Given the description of an element on the screen output the (x, y) to click on. 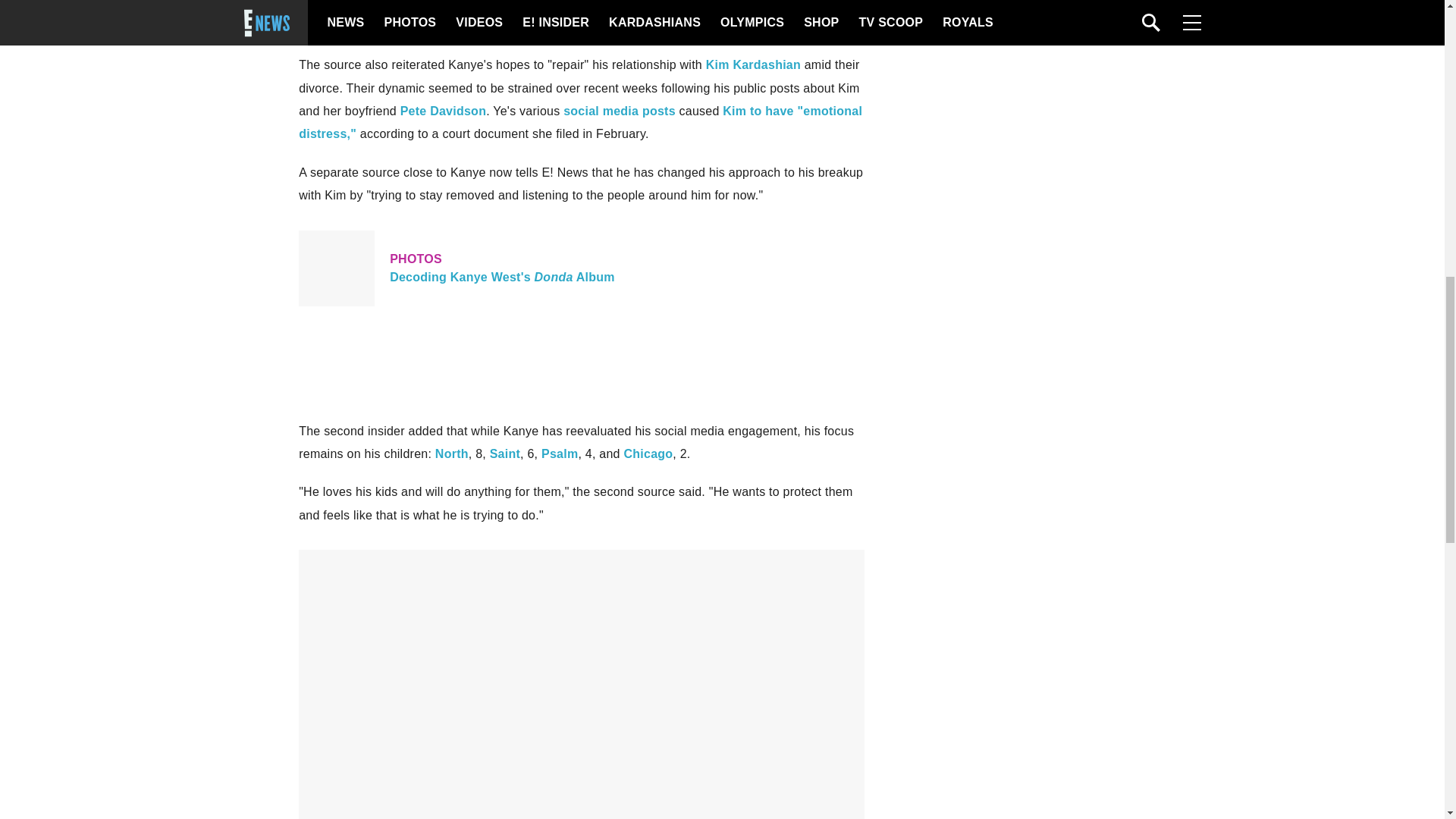
Pete Davidson (443, 110)
Kim to have "emotional distress," (579, 122)
social media posts (581, 268)
Kim Kardashian (619, 110)
North (753, 64)
Chicago (451, 453)
Saint (647, 453)
Psalm (504, 453)
